Given the description of an element on the screen output the (x, y) to click on. 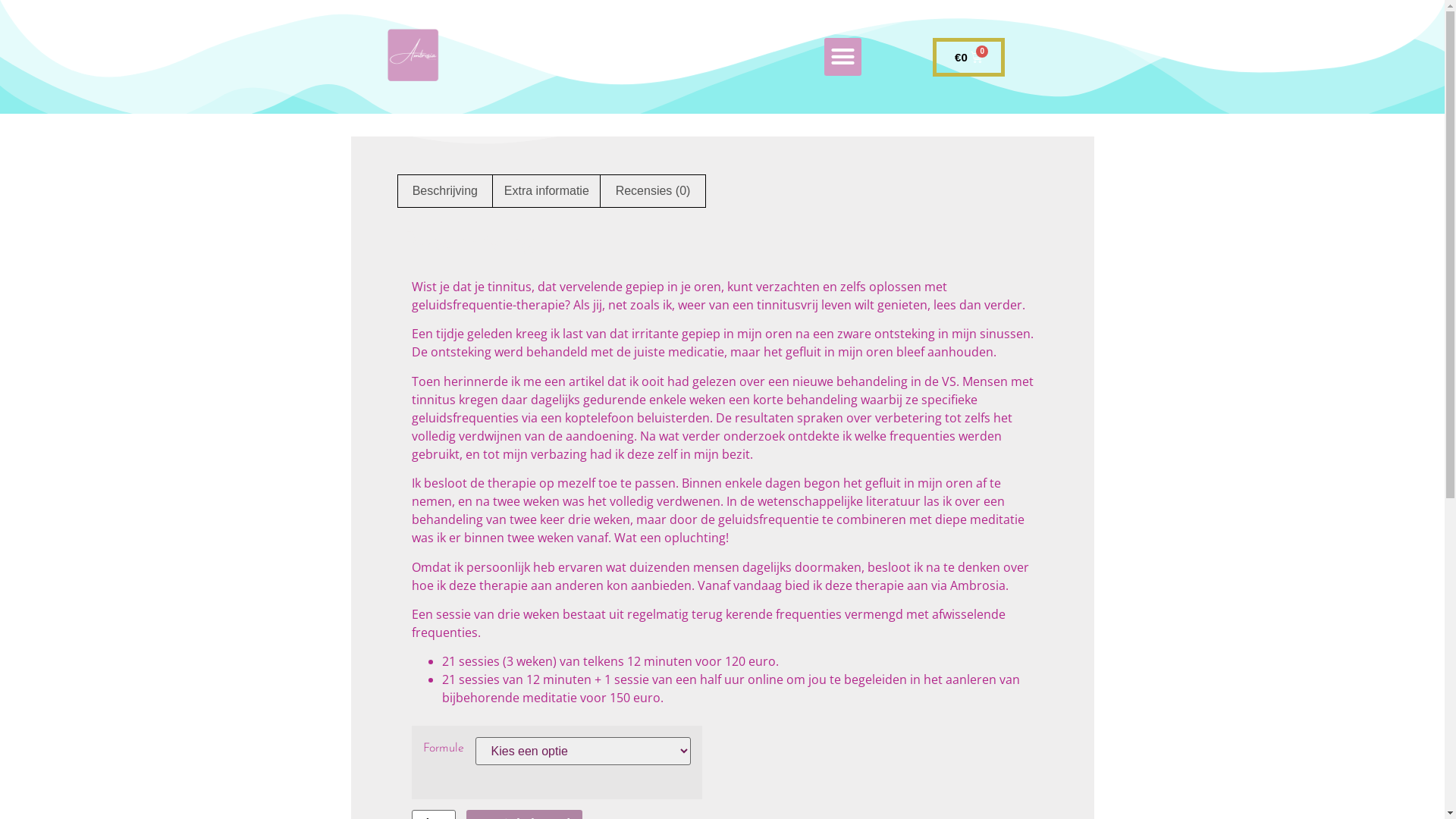
Recensies (0) Element type: text (652, 191)
Beschrijving Element type: text (444, 191)
Extra informatie Element type: text (546, 191)
